Given the description of an element on the screen output the (x, y) to click on. 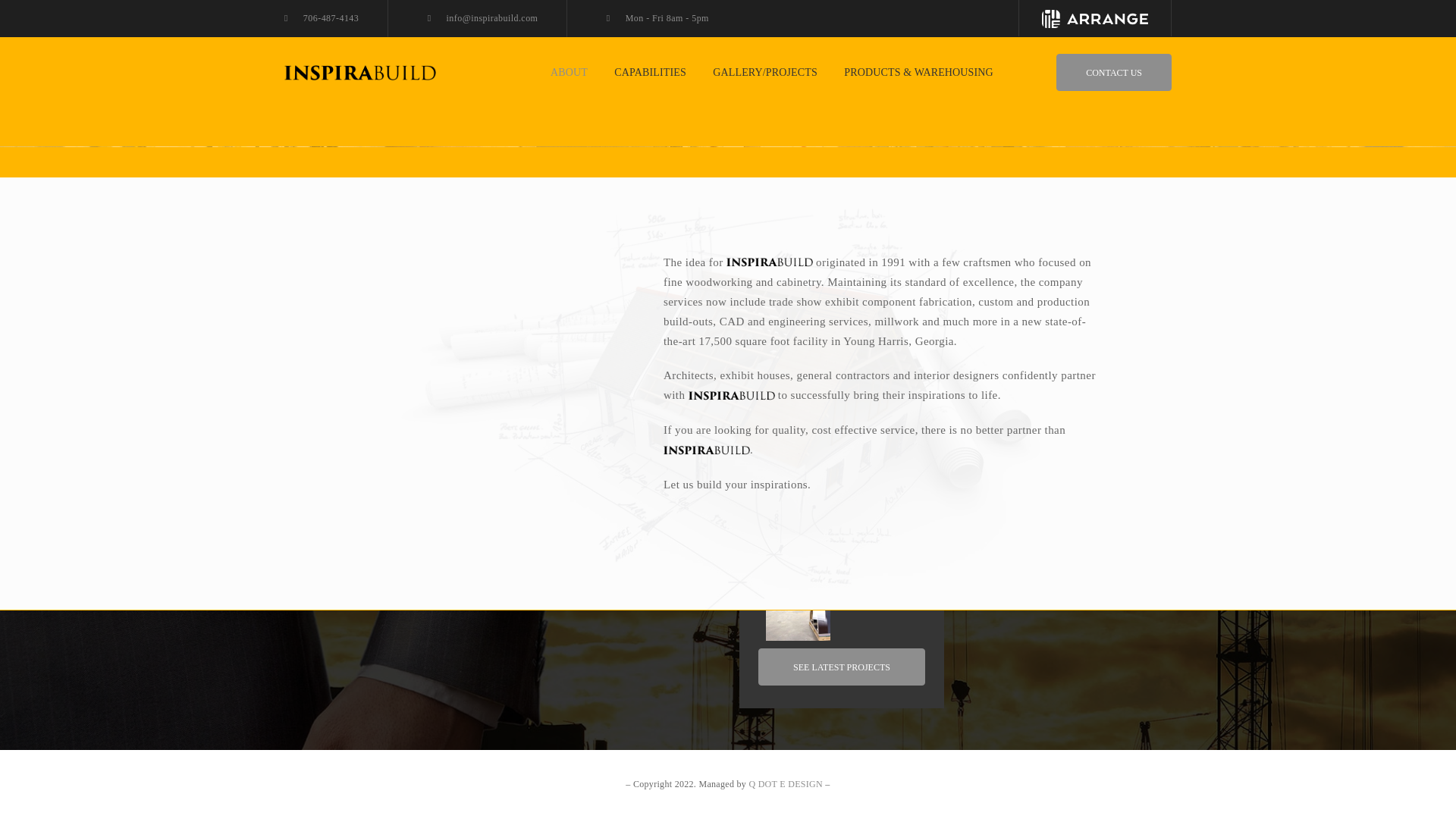
Contact Us (1003, 556)
Inspirabuild-We Build Your Inspirations (359, 70)
About (993, 456)
CONTACT US (1114, 72)
Capabilities (1005, 481)
ABOUT (569, 72)
Home (992, 431)
CAPABILITIES (649, 72)
Inspirabuild logo (386, 382)
